Given the description of an element on the screen output the (x, y) to click on. 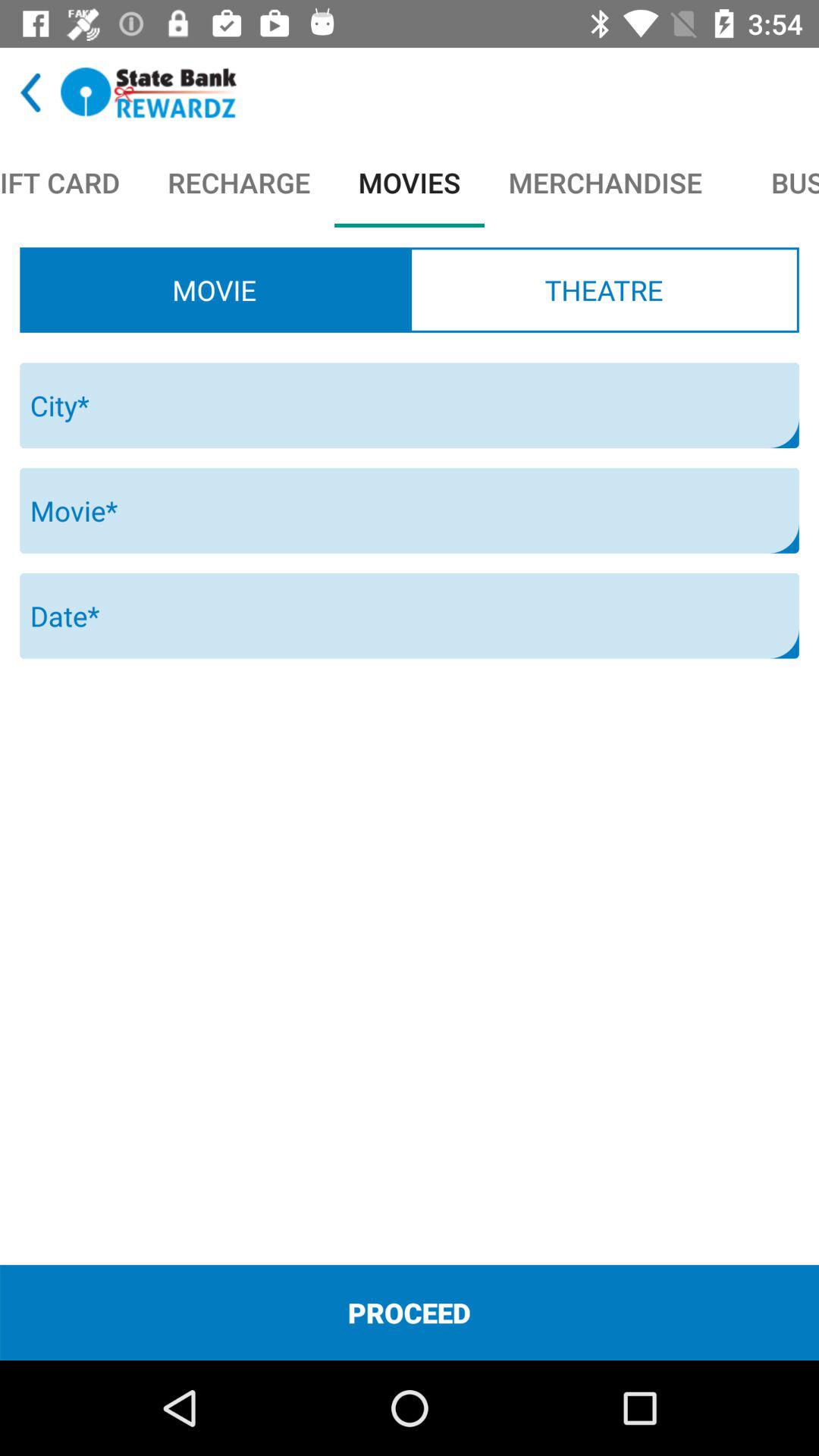
press the radio button to the right of the movie icon (604, 289)
